Given the description of an element on the screen output the (x, y) to click on. 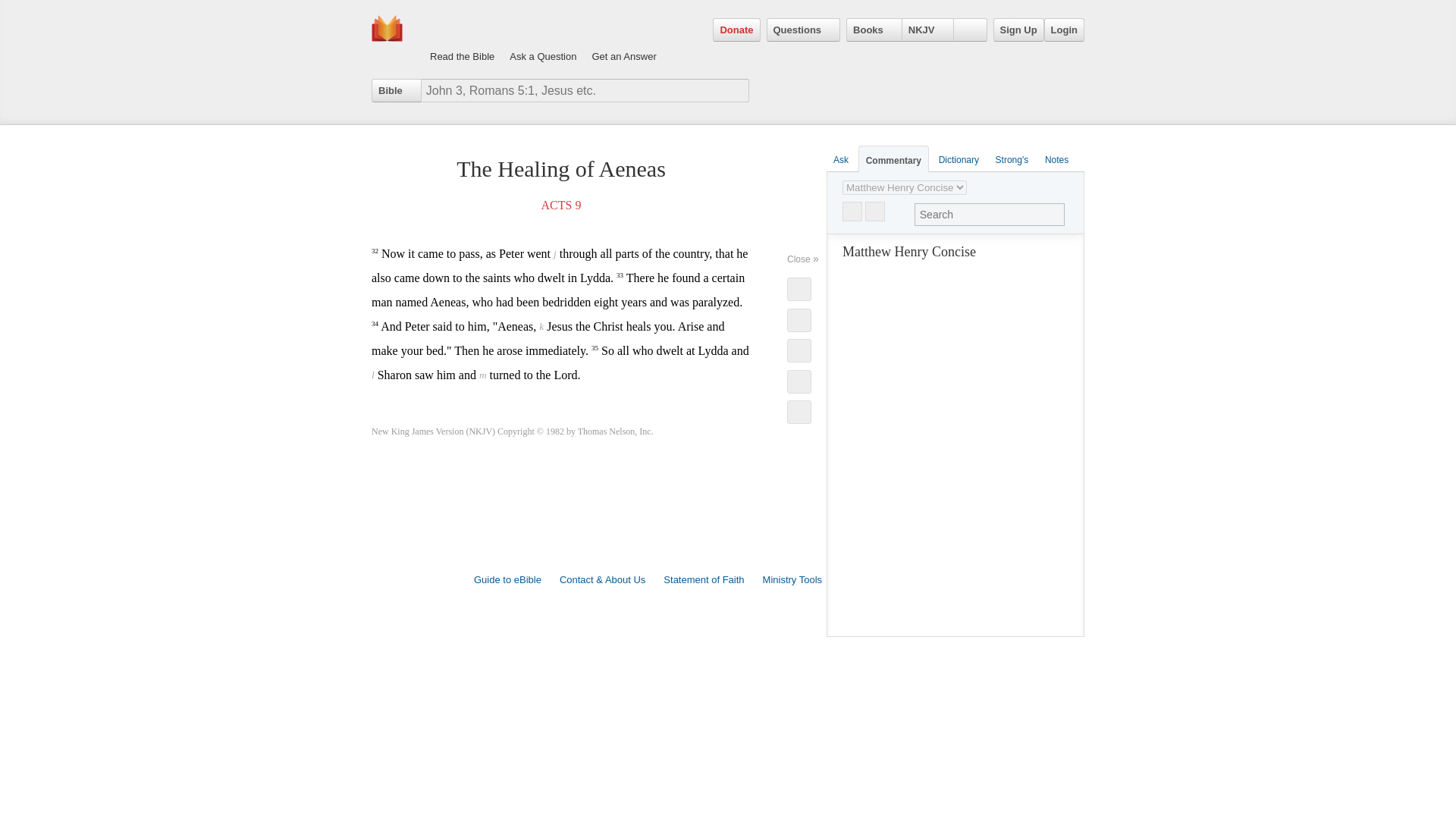
Get an Answer (623, 41)
Questions (802, 29)
Ask a Question (542, 41)
Books (873, 29)
Donate (736, 29)
Read the Bible (462, 41)
